Given the description of an element on the screen output the (x, y) to click on. 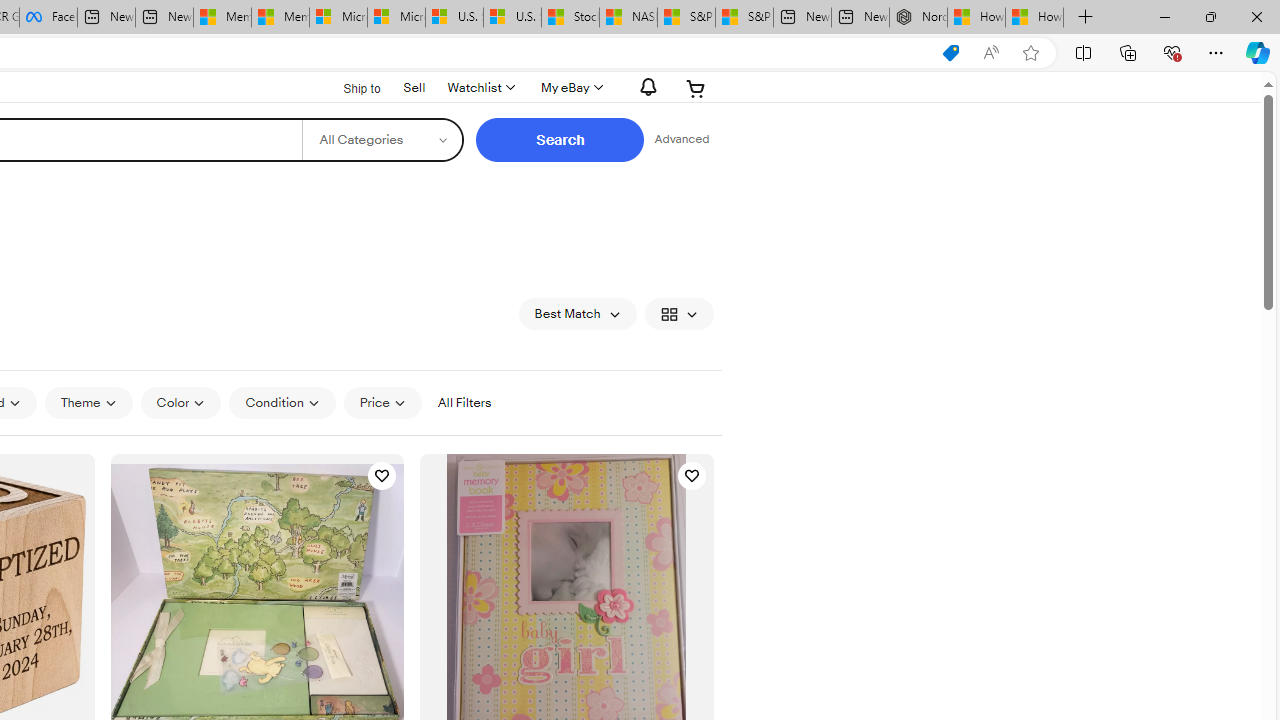
Price (382, 403)
Sort: Best Match (577, 313)
Condition (282, 403)
Ship to (349, 89)
Price (382, 402)
Sell (413, 86)
Watchlist (479, 88)
